Given the description of an element on the screen output the (x, y) to click on. 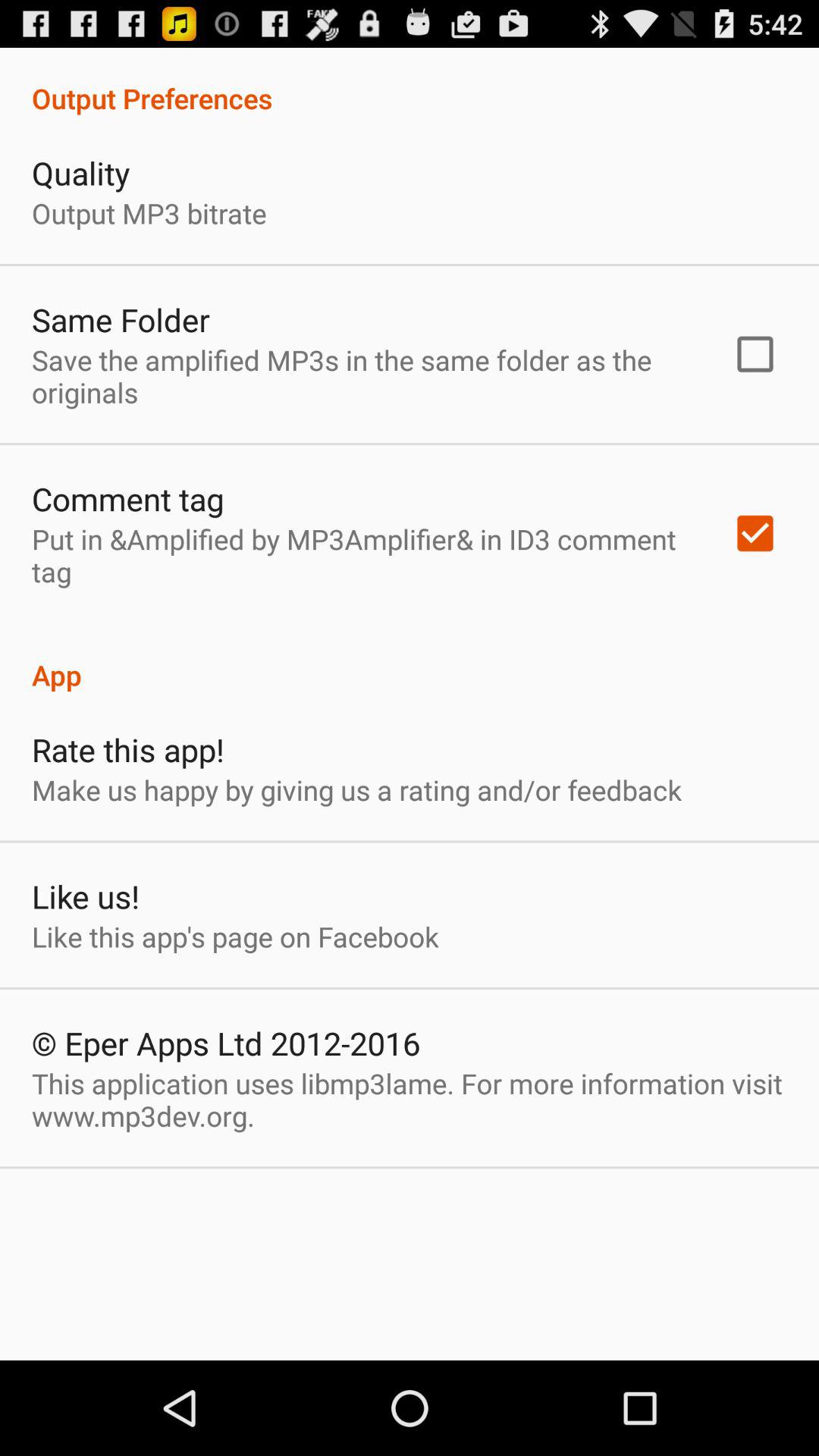
click the icon below the like this app icon (225, 1042)
